Given the description of an element on the screen output the (x, y) to click on. 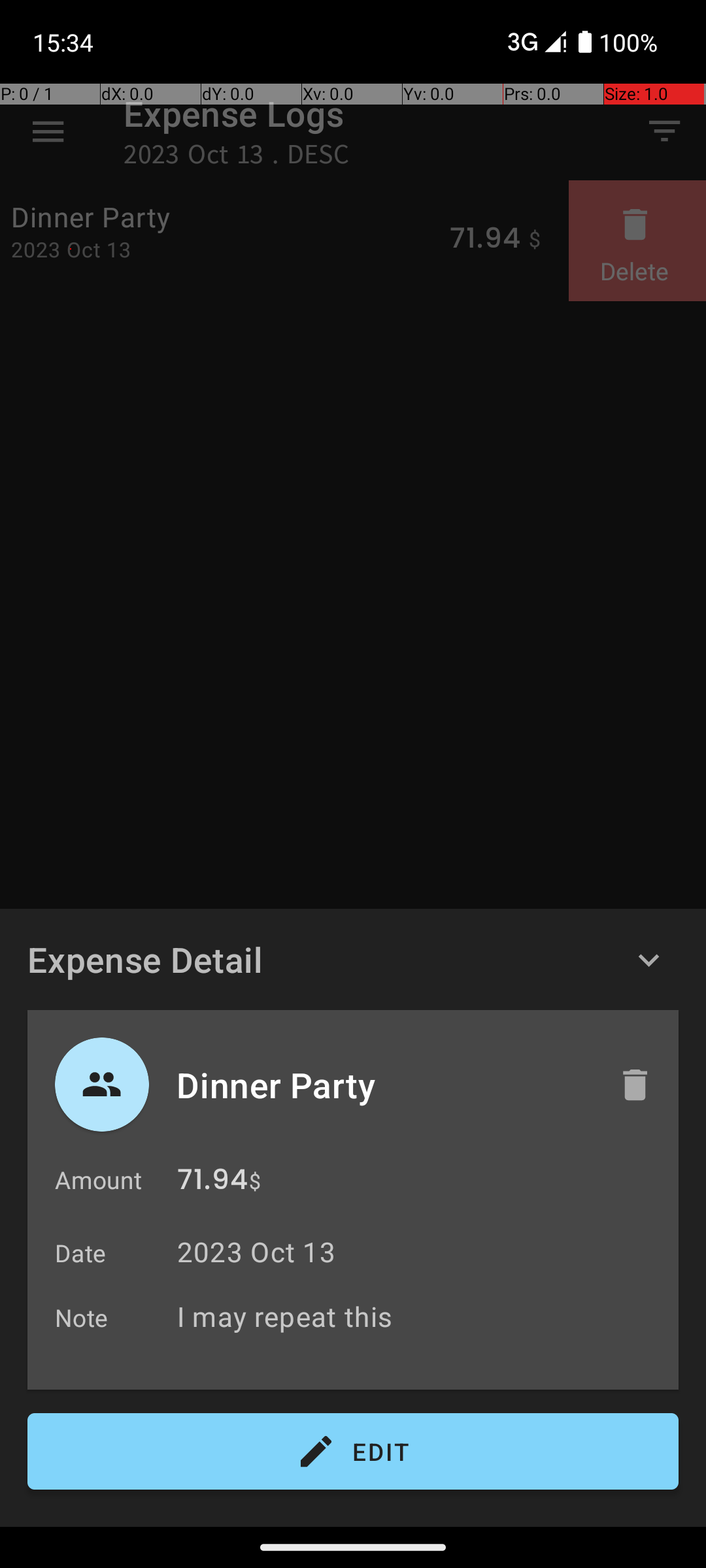
Dinner Party Element type: android.widget.TextView (383, 1084)
71.94 Element type: android.widget.TextView (212, 1182)
$ Element type: android.widget.TextView (254, 1180)
